Given the description of an element on the screen output the (x, y) to click on. 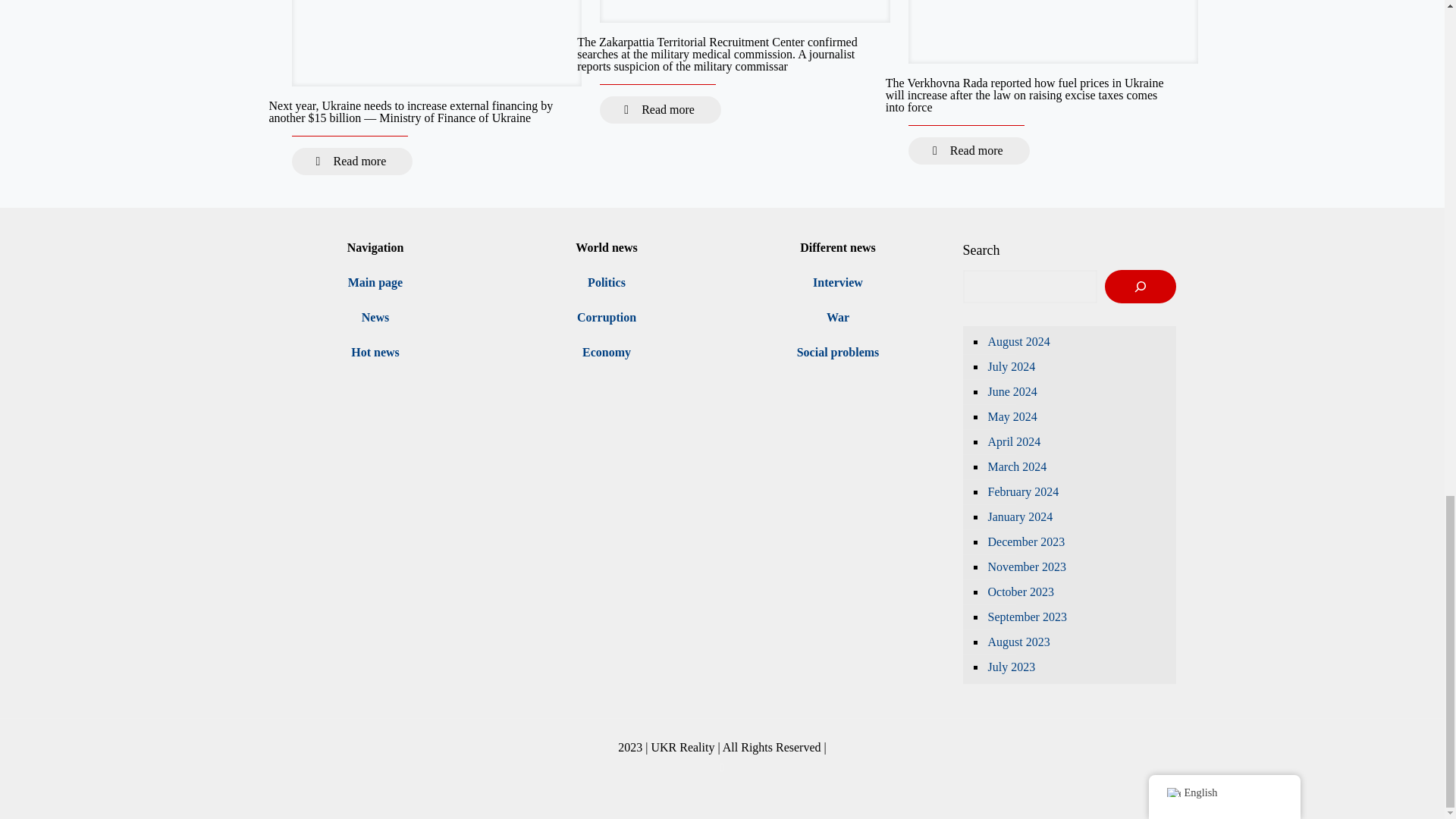
Read more (351, 161)
Read more (659, 109)
